Given the description of an element on the screen output the (x, y) to click on. 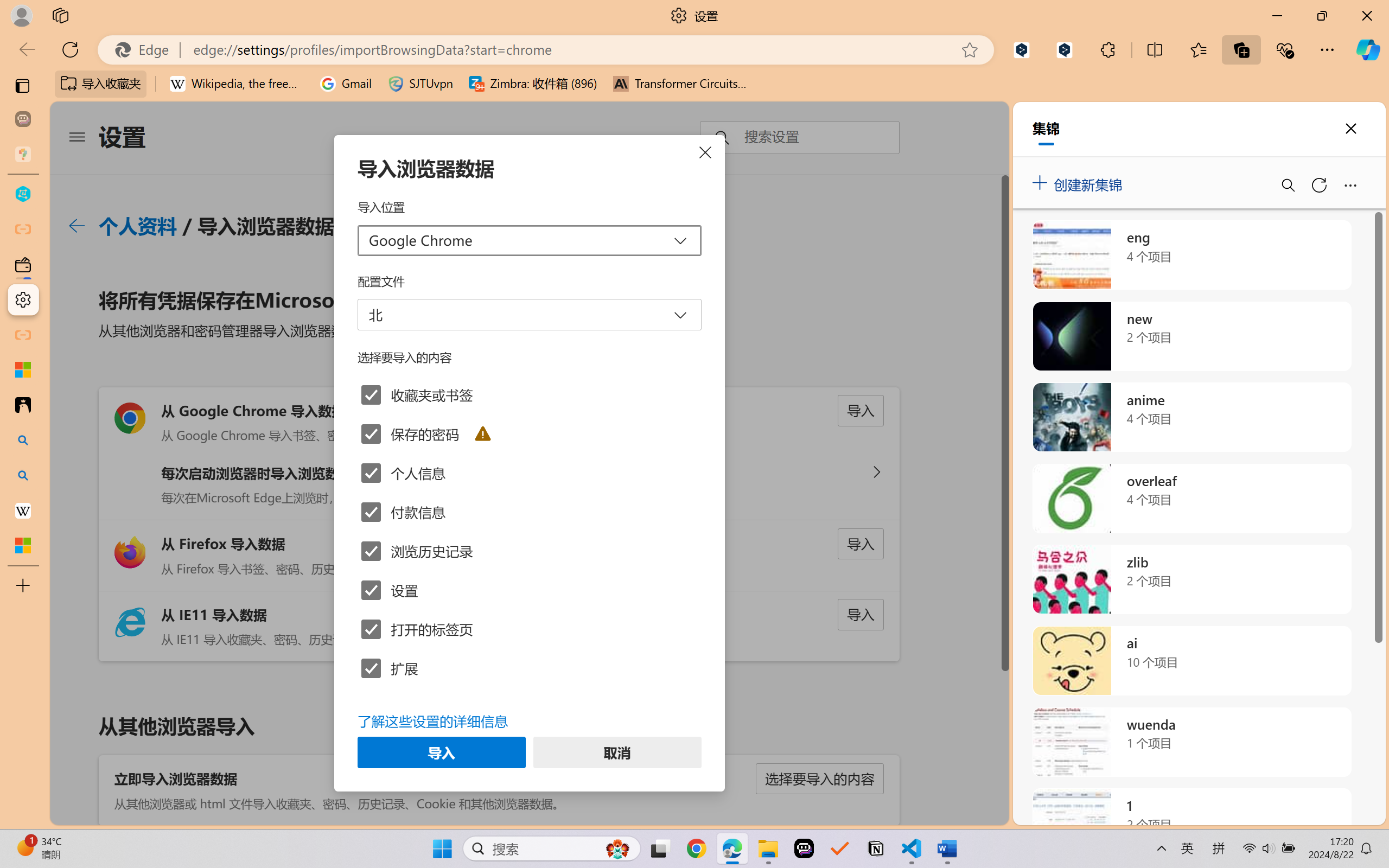
Adjust indents and spacing - Microsoft Support (22, 369)
Copilot (Ctrl+Shift+.) (1368, 49)
